Given the description of an element on the screen output the (x, y) to click on. 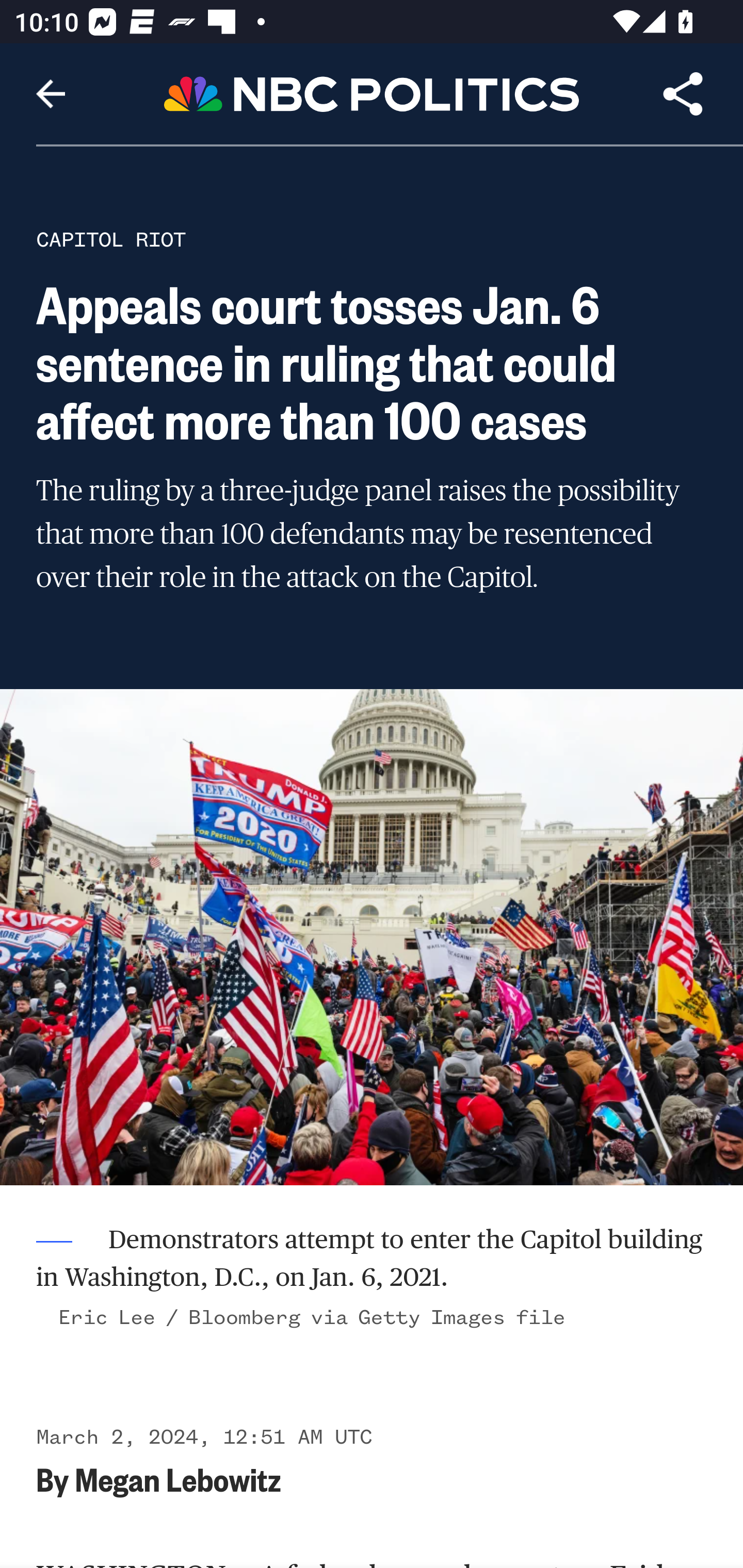
Navigate up (50, 93)
Share Article, button (683, 94)
Header, NBC Politics (371, 93)
CAPITOL RIOT (110, 239)
